Given the description of an element on the screen output the (x, y) to click on. 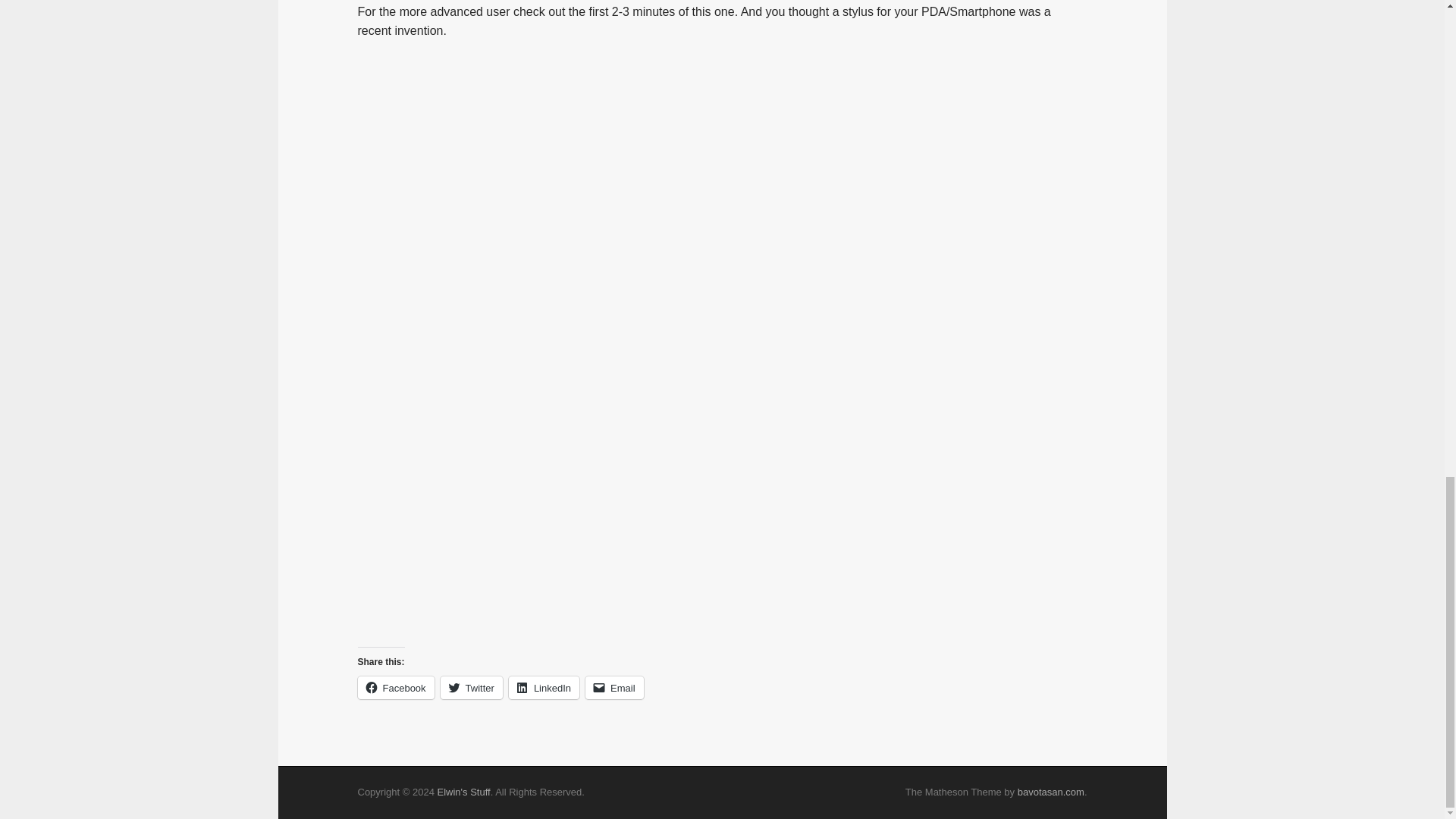
Twitter (471, 687)
Elwin's Stuff (462, 791)
Email (614, 687)
Click to share on Facebook (395, 687)
Click to share on Twitter (471, 687)
bavotasan.com (1050, 791)
Click to email a link to a friend (614, 687)
LinkedIn (543, 687)
Facebook (395, 687)
Click to share on LinkedIn (543, 687)
